Given the description of an element on the screen output the (x, y) to click on. 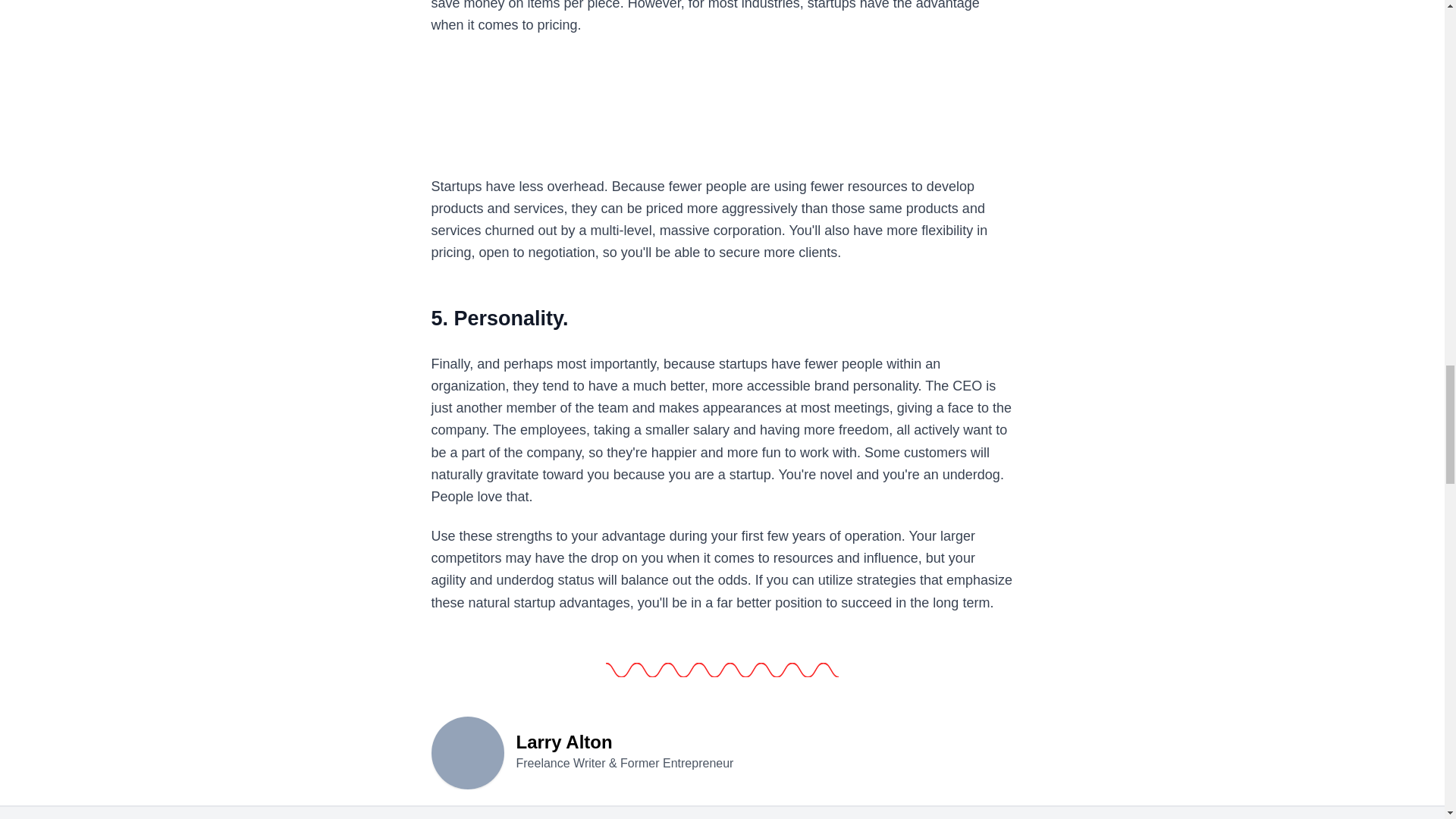
Larry Alton (466, 751)
